Given the description of an element on the screen output the (x, y) to click on. 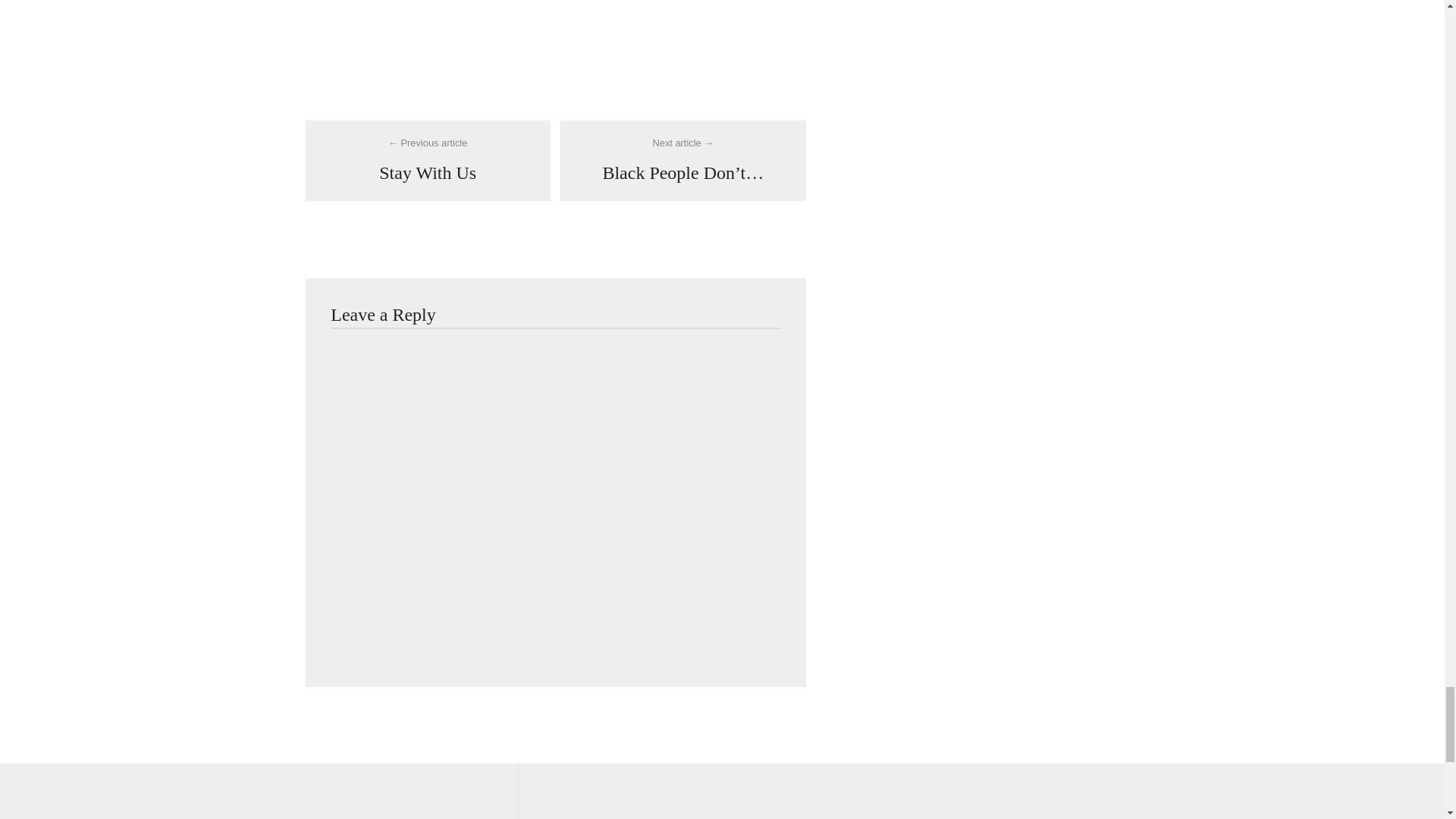
Creativity (427, 160)
